Given the description of an element on the screen output the (x, y) to click on. 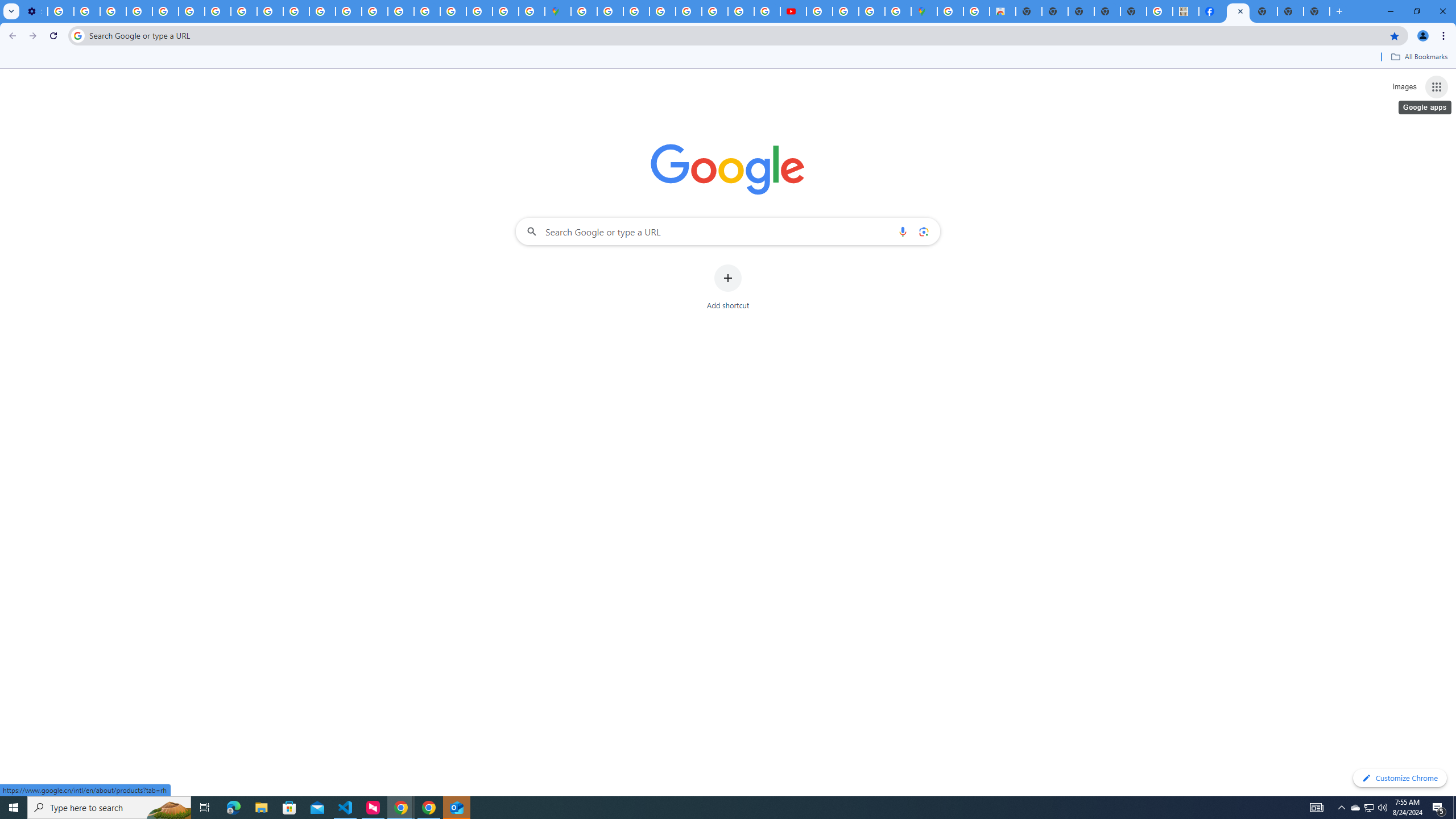
https://scholar.google.com/ (322, 11)
Privacy Checkup (269, 11)
YouTube (191, 11)
Google Maps (558, 11)
Privacy Help Center - Policies Help (348, 11)
